Given the description of an element on the screen output the (x, y) to click on. 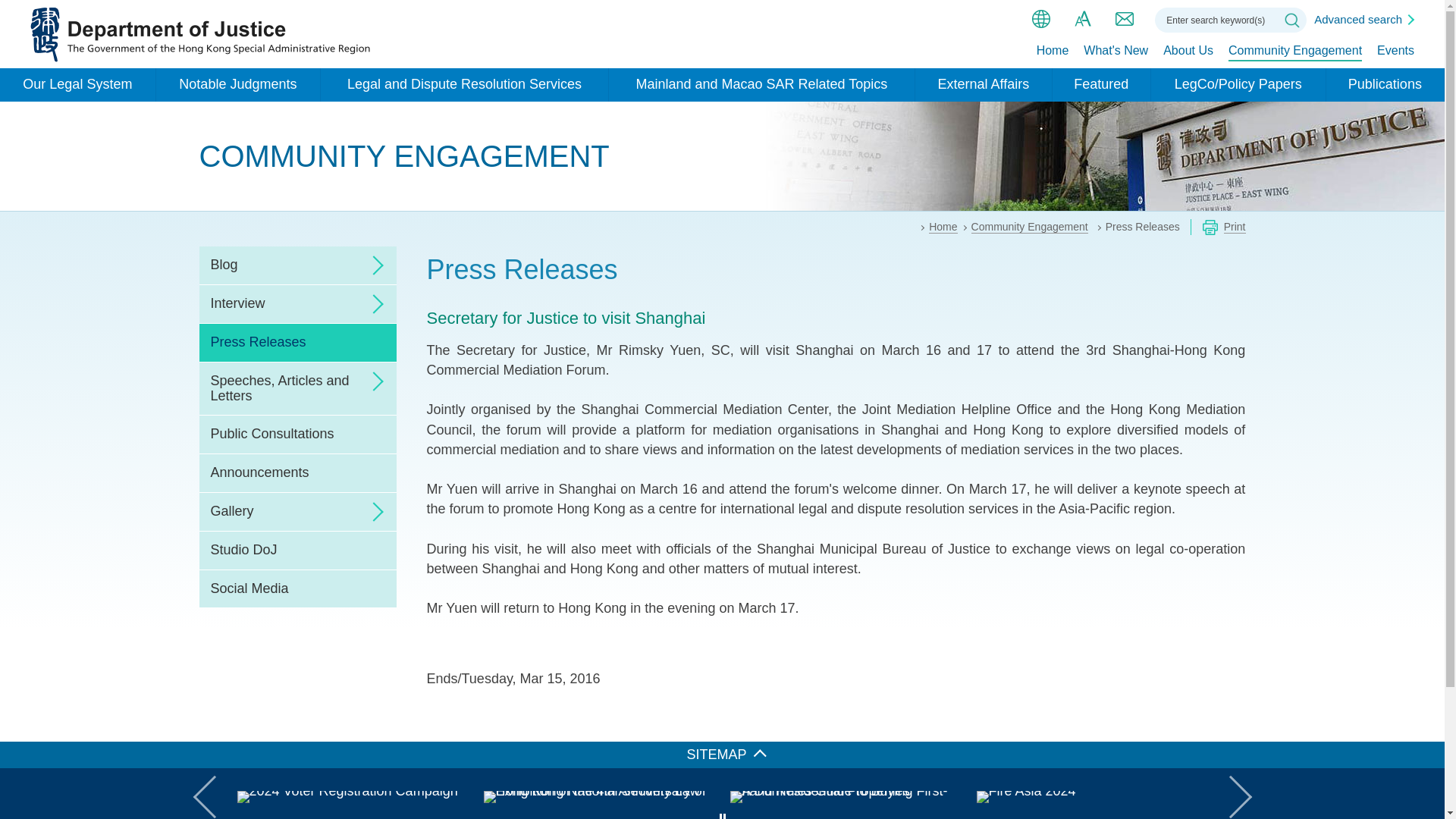
Contact us (1124, 18)
Press Releases (297, 342)
Speeches, Articles and Letters (297, 388)
Font size (1082, 18)
Interview (297, 303)
Blog (297, 265)
language (1040, 18)
